Given the description of an element on the screen output the (x, y) to click on. 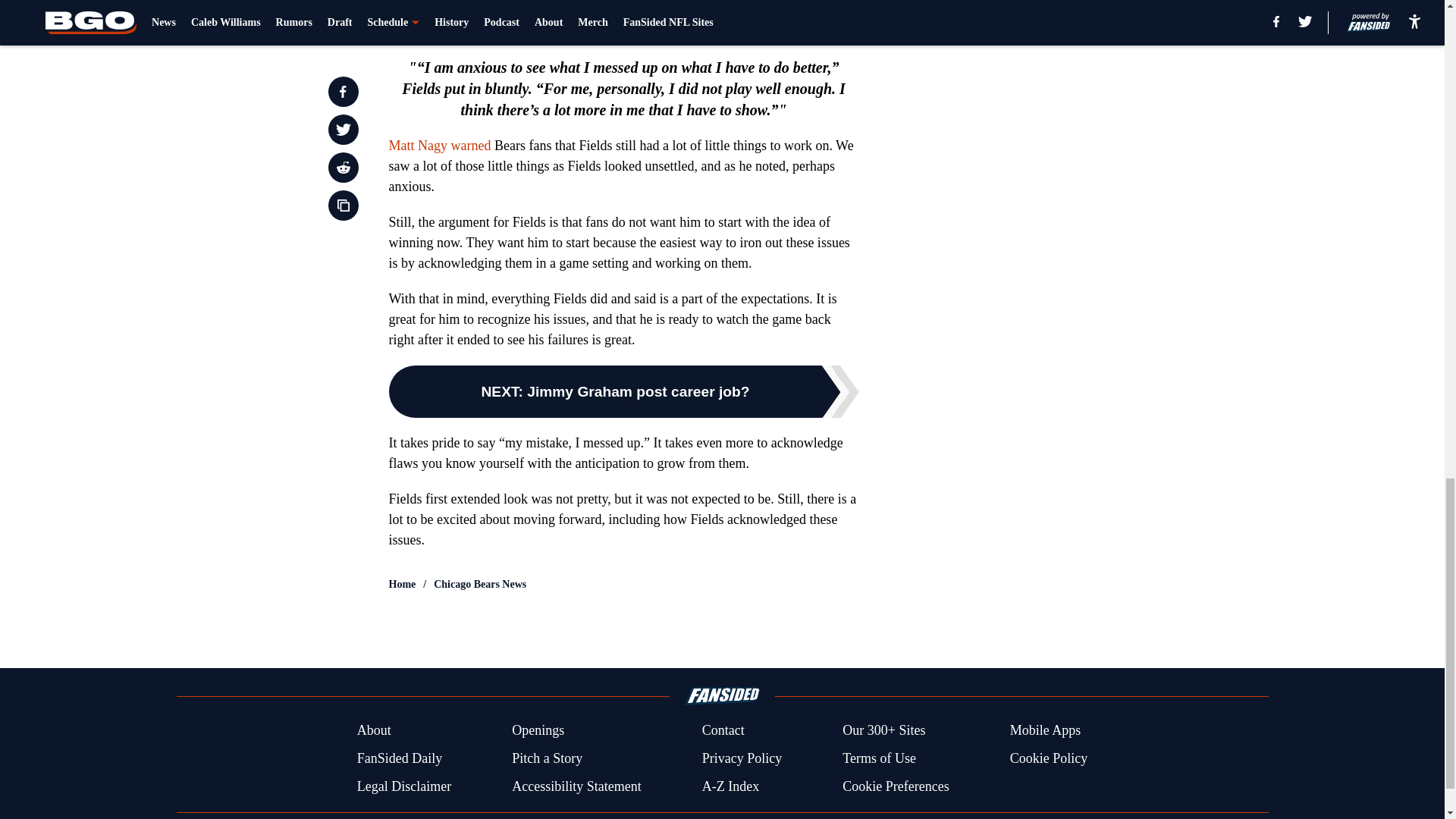
Contact (722, 730)
A-Z Index (729, 786)
Cookie Policy (1048, 758)
Privacy Policy (742, 758)
NEXT: Jimmy Graham post career job? (623, 391)
About (373, 730)
Accessibility Statement (576, 786)
Terms of Use (879, 758)
Openings (538, 730)
Matt Nagy warned (439, 145)
